Given the description of an element on the screen output the (x, y) to click on. 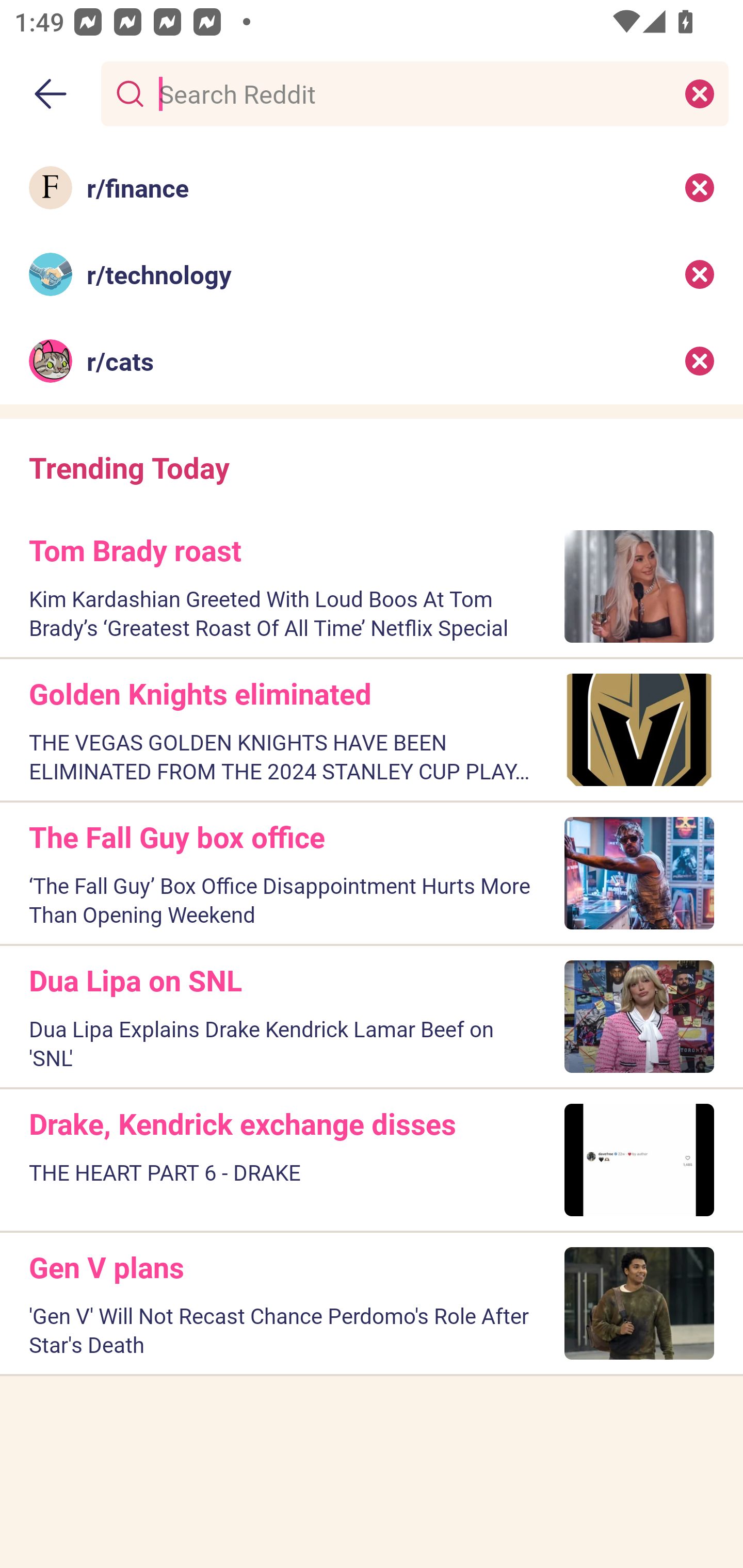
Back (50, 93)
Search Reddit (410, 93)
Clear search (699, 93)
r/finance Recent search: r/finance Remove (371, 187)
Remove (699, 187)
r/technology Recent search: r/technology Remove (371, 274)
Remove (699, 274)
r/cats Recent search: r/cats Remove (371, 361)
Remove (699, 361)
